Given the description of an element on the screen output the (x, y) to click on. 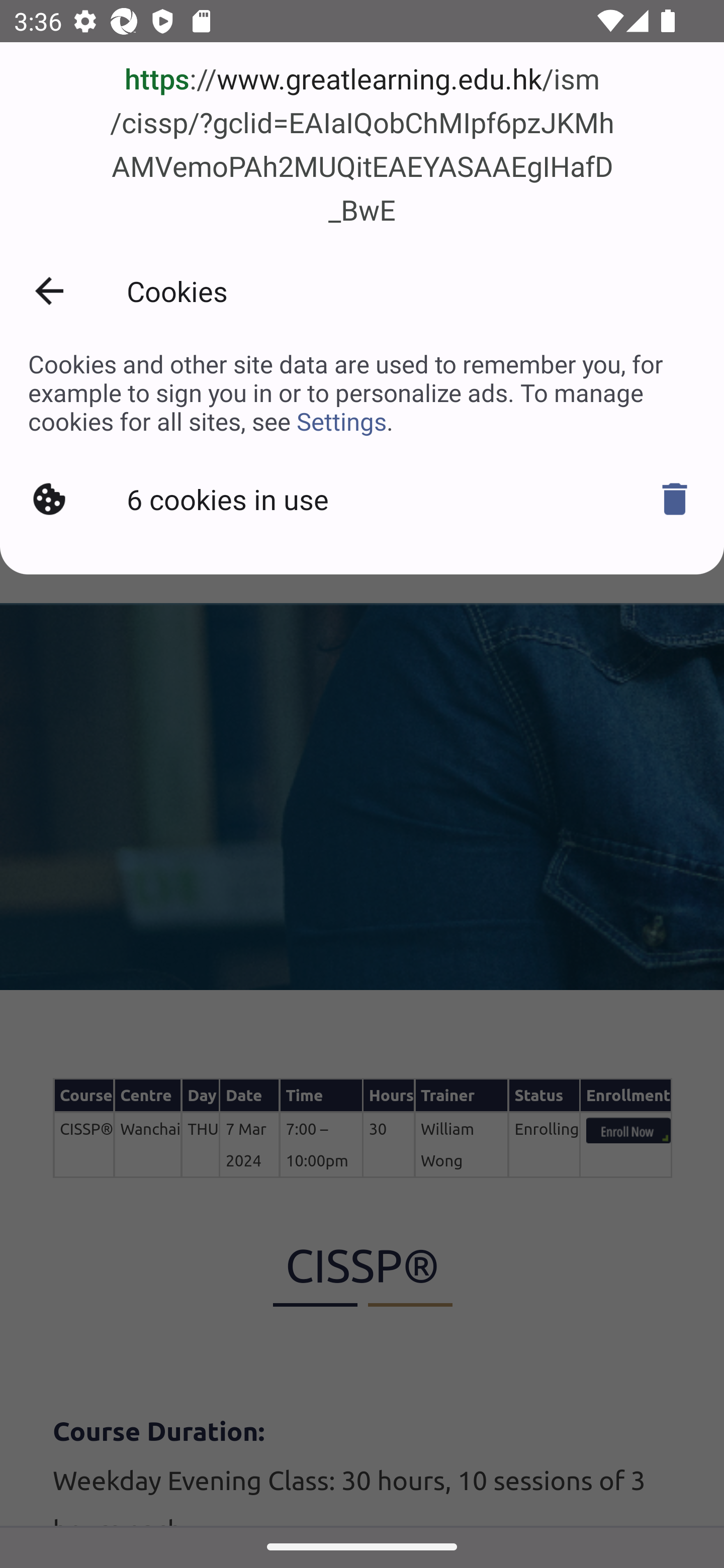
Back (49, 290)
6 cookies in use Clear cookies? (362, 498)
